Given the description of an element on the screen output the (x, y) to click on. 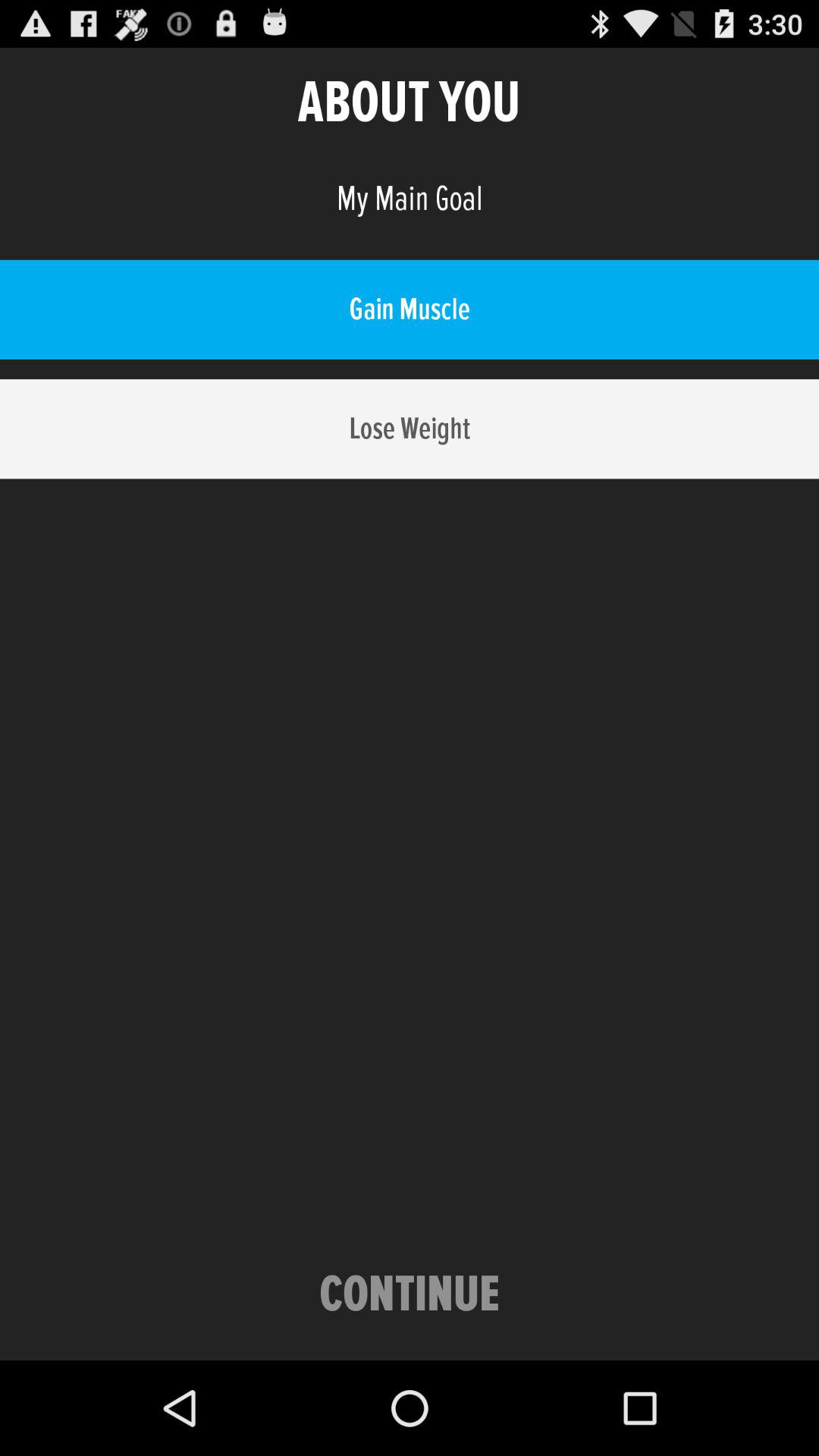
turn off the item below the lose weight icon (409, 1295)
